Given the description of an element on the screen output the (x, y) to click on. 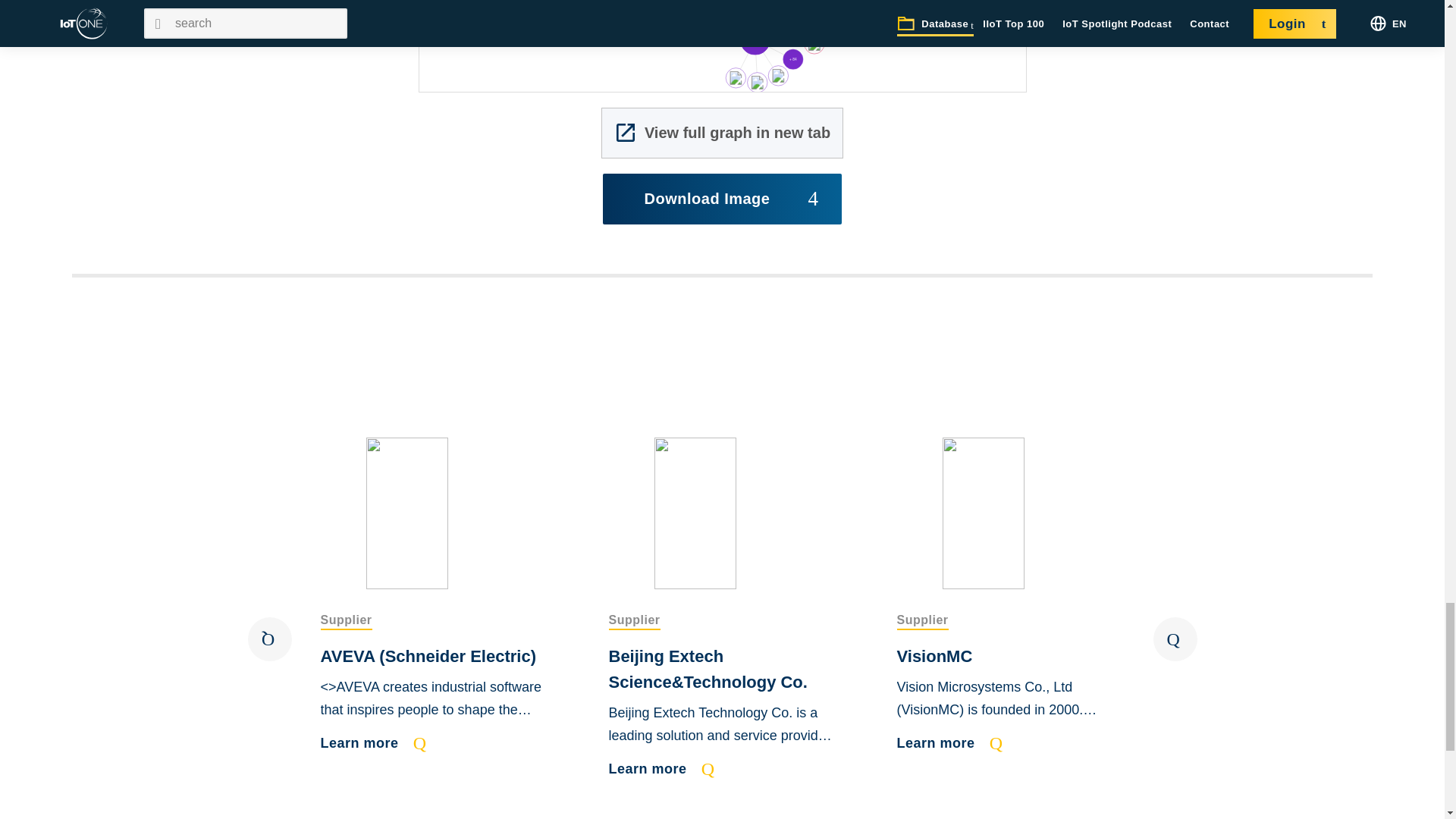
View full graph in new tab (722, 132)
Bosch (777, 75)
PTC (792, 58)
Siemens (834, 34)
PTC (814, 43)
ST Engineering  (735, 78)
Deutsche Telekom (846, 16)
General Electric (755, 82)
